Given the description of an element on the screen output the (x, y) to click on. 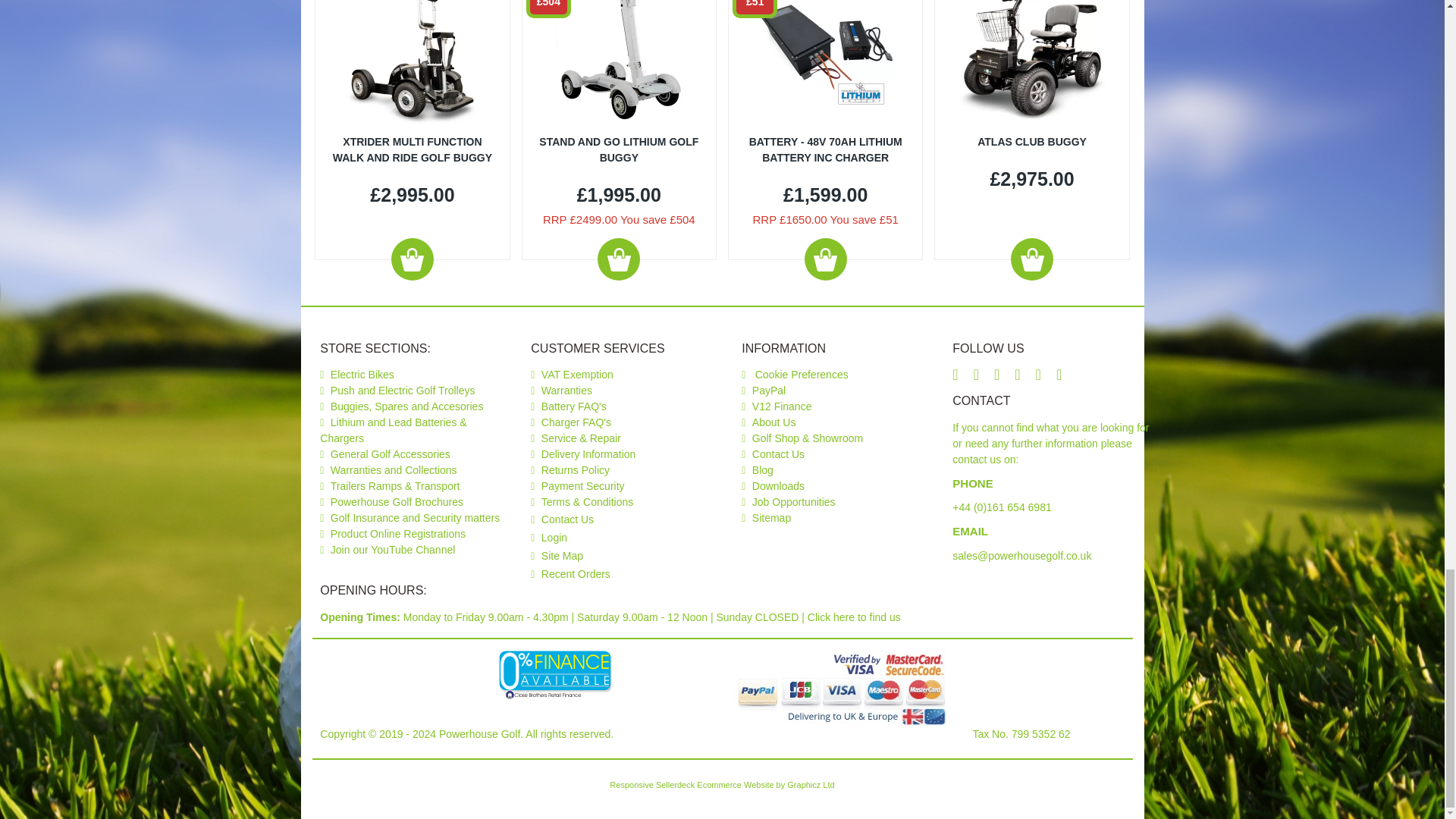
XTRIDER Multi function walk and ride Golf buggy (411, 61)
Atlas Club Buggy (1032, 61)
Stand and Go Lithium Golf Buggy (618, 61)
Battery - 48v 70Ah Lithium battery Inc Charger (825, 61)
